Given the description of an element on the screen output the (x, y) to click on. 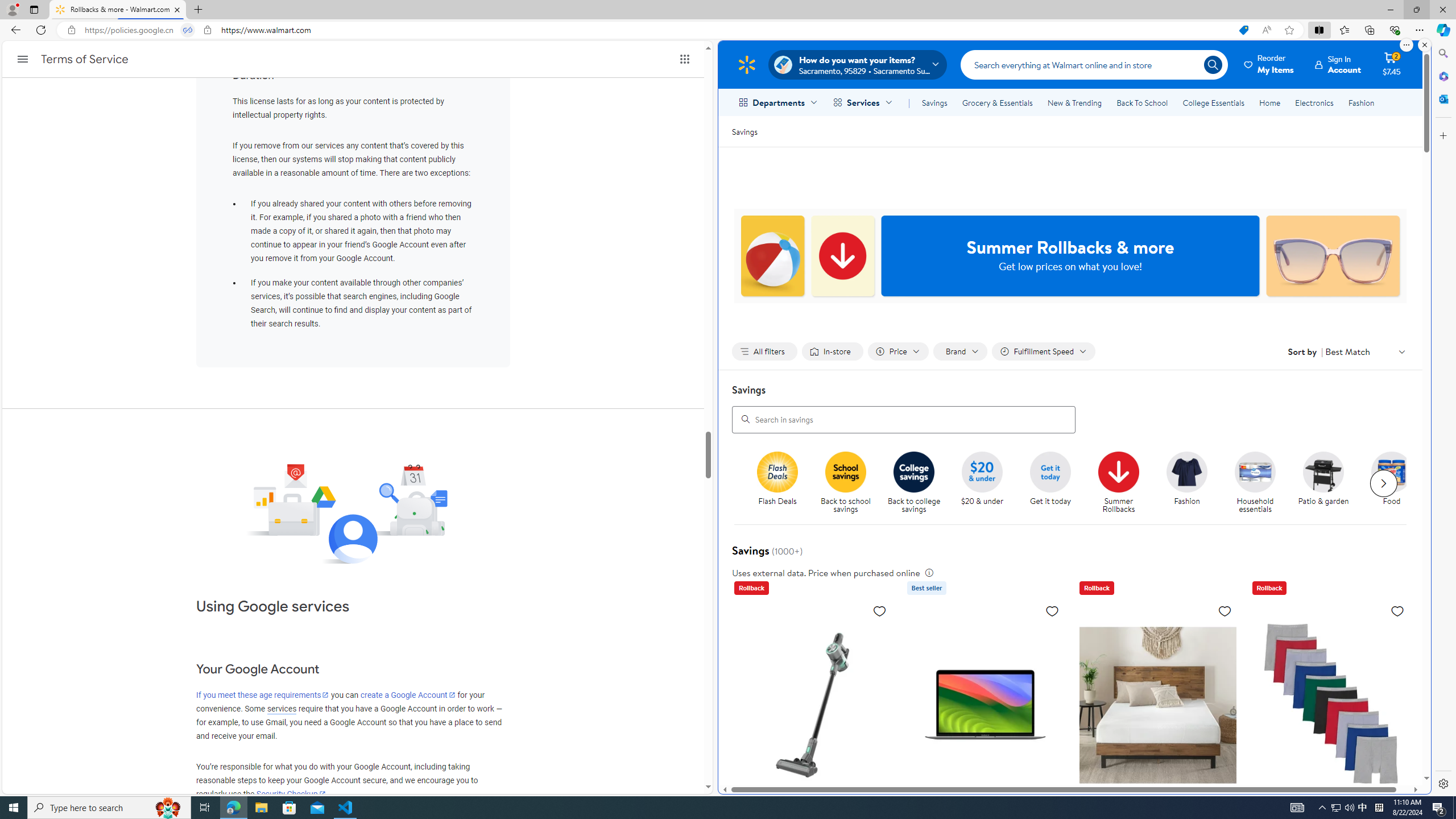
$20 & under (986, 483)
Summer Rollbacks Summer Rollbacks (1118, 483)
Class: ld ld-ChevronDown pa0 ml6 (1401, 351)
All filters none applied, activate to change (764, 351)
Food Food (1391, 478)
Tabs in split screen (187, 29)
